Given the description of an element on the screen output the (x, y) to click on. 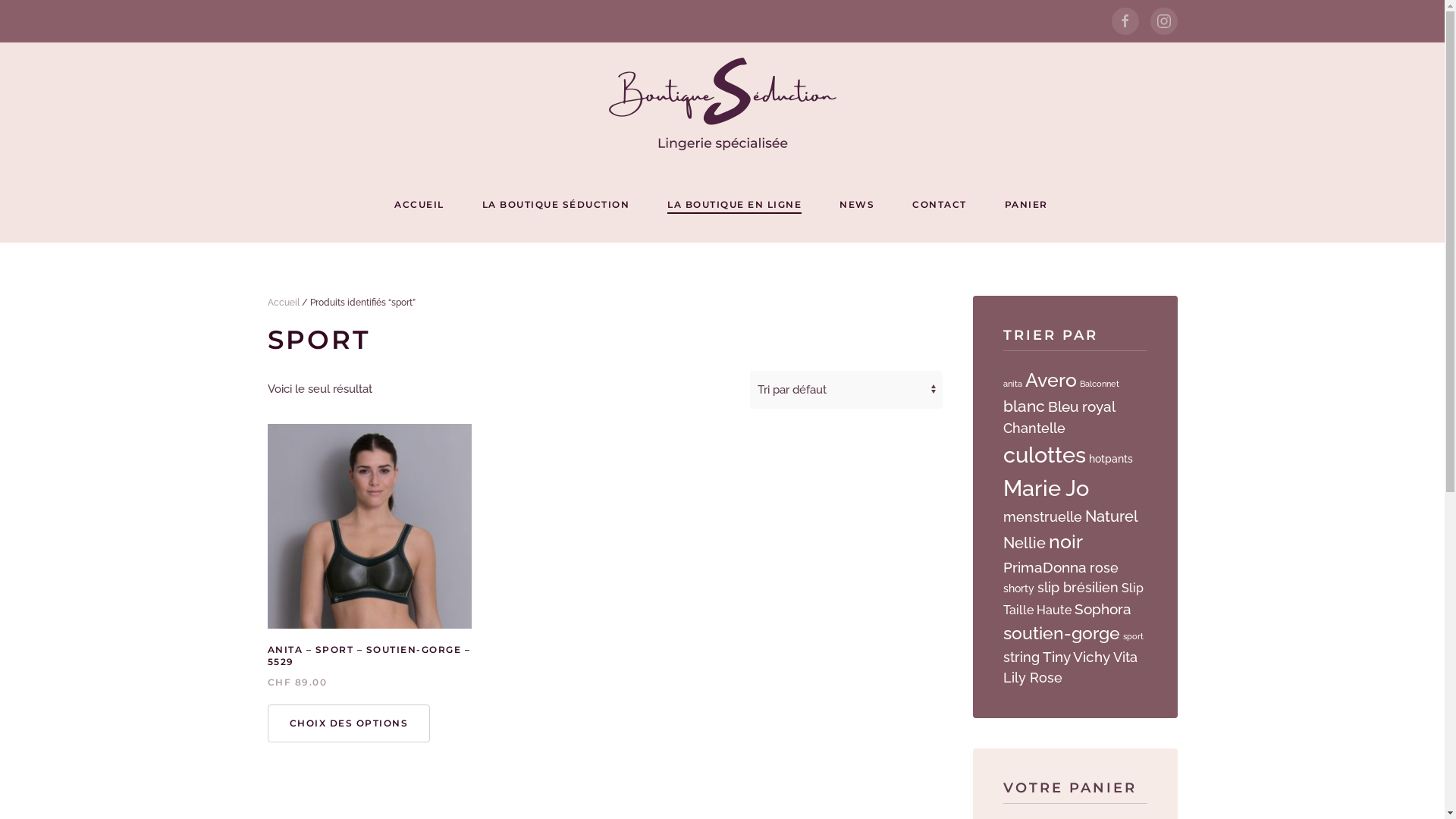
CONTACT Element type: text (939, 204)
menstruelle Element type: text (1041, 516)
anita Element type: text (1011, 383)
culottes Element type: text (1043, 454)
Balconnet Element type: text (1099, 383)
Accueil Element type: text (282, 302)
ACCUEIL Element type: text (419, 204)
Avero Element type: text (1050, 380)
Tiny Vichy Element type: text (1075, 656)
hotpants Element type: text (1110, 458)
sport Element type: text (1132, 635)
PANIER Element type: text (1027, 204)
Slip Taille Haute Element type: text (1072, 598)
CHOIX DES OPTIONS Element type: text (347, 723)
string Element type: text (1020, 657)
soutien-gorge Element type: text (1060, 632)
Marie Jo Element type: text (1045, 487)
Bleu royal Element type: text (1081, 406)
Sophora Element type: text (1101, 608)
PrimaDonna Element type: text (1043, 566)
rose Element type: text (1102, 567)
Vita Lily Rose Element type: text (1069, 667)
NEWS Element type: text (856, 204)
Nellie Element type: text (1023, 542)
Chantelle Element type: text (1033, 428)
blanc Element type: text (1023, 405)
Naturel Element type: text (1110, 516)
noir Element type: text (1065, 541)
shorty Element type: text (1017, 588)
LA BOUTIQUE EN LIGNE Element type: text (734, 204)
